Given the description of an element on the screen output the (x, y) to click on. 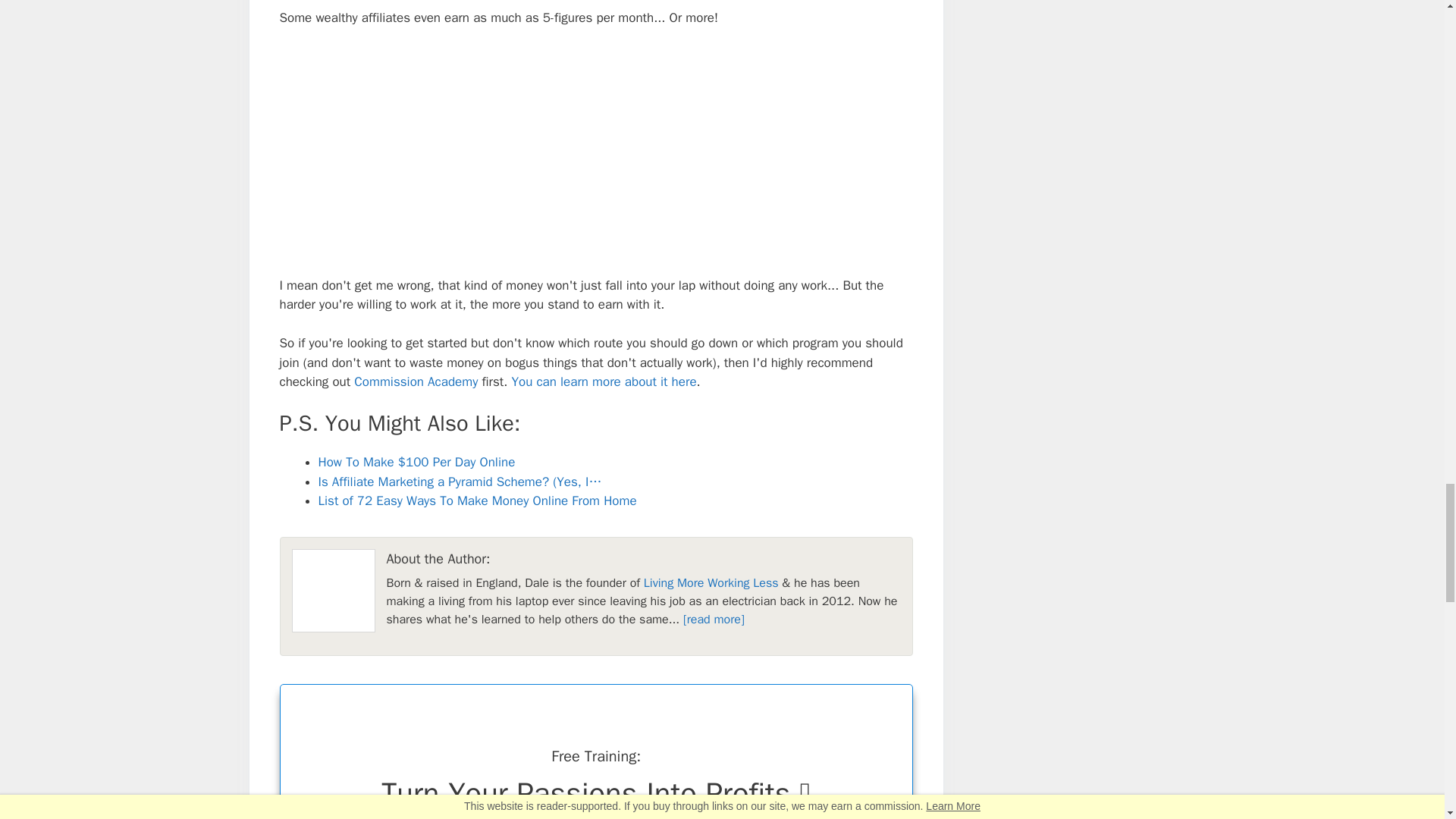
You can learn more about it here (603, 381)
Commission Academy (415, 381)
Read More (713, 618)
List of 72 Easy Ways To Make Money Online From Home (477, 500)
Living More Working Less (710, 581)
